Given the description of an element on the screen output the (x, y) to click on. 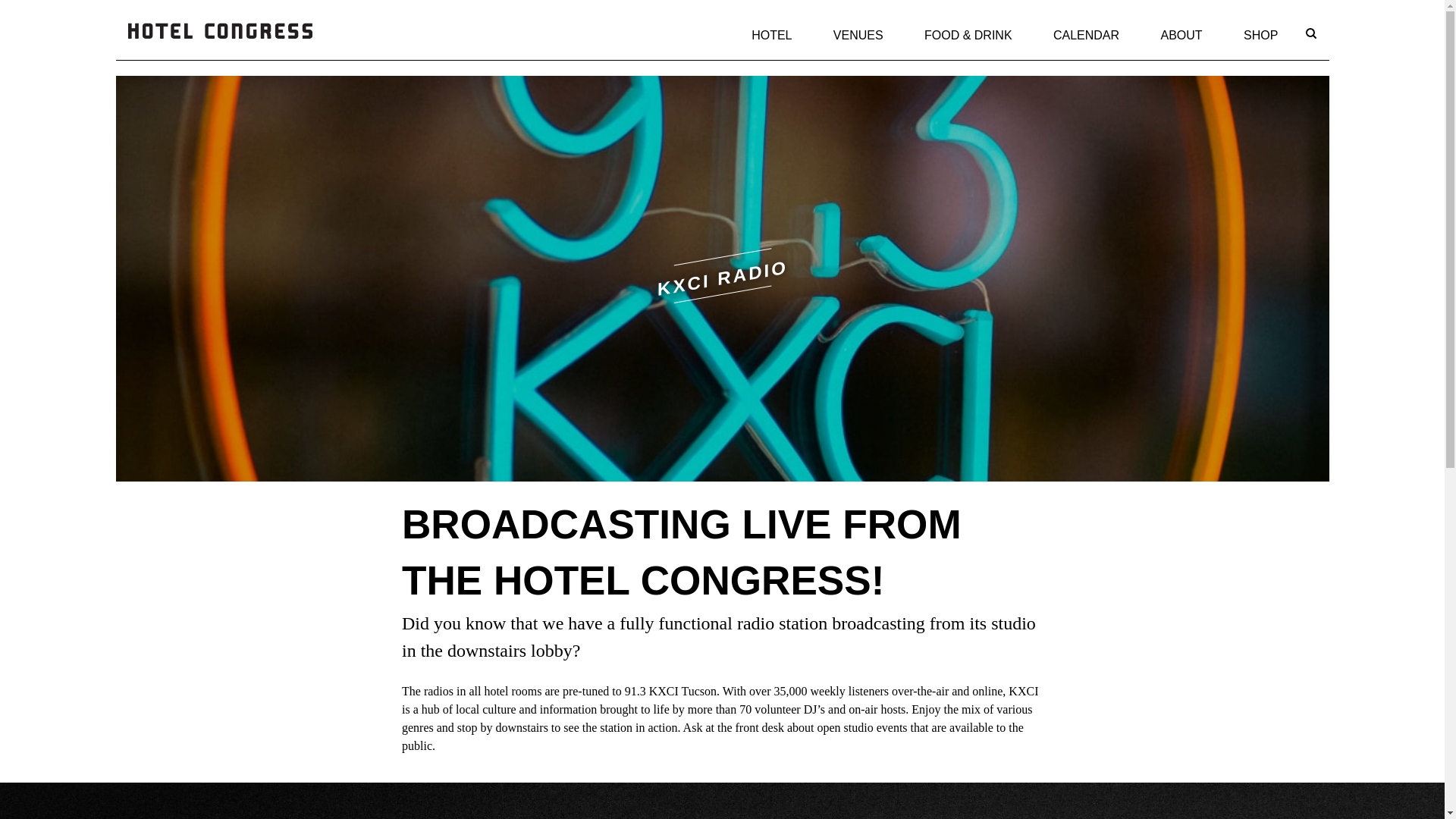
HOTEL (771, 35)
ABOUT (1181, 35)
VENUES (858, 35)
return to home (219, 47)
Search (1273, 90)
CALENDAR (1086, 35)
SHOP (1260, 35)
